Given the description of an element on the screen output the (x, y) to click on. 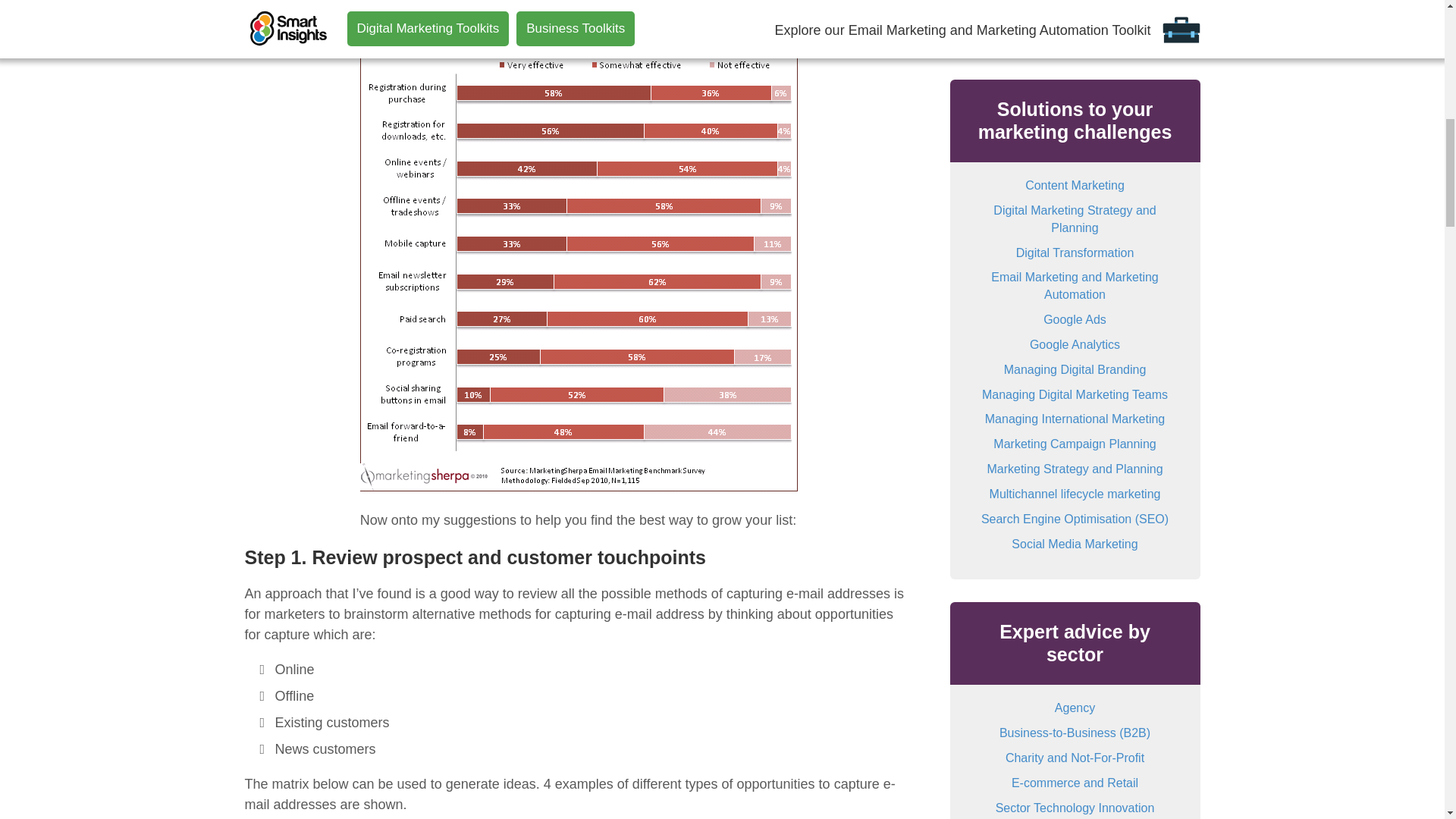
Email Marketing and Marketing Automation (1074, 286)
Marketing Strategy and Planning (1074, 468)
Google Ads (1074, 318)
Google Analytics (1074, 344)
Managing Digital Branding (1075, 369)
Multichannel lifecycle marketing (1075, 493)
Content Marketing (1074, 185)
Managing Digital Marketing Teams (1074, 394)
Digital Marketing Strategy and Planning (1074, 218)
Digital Transformation (1075, 251)
Marketing Campaign Planning (1074, 443)
Managing International Marketing (1074, 418)
